Given the description of an element on the screen output the (x, y) to click on. 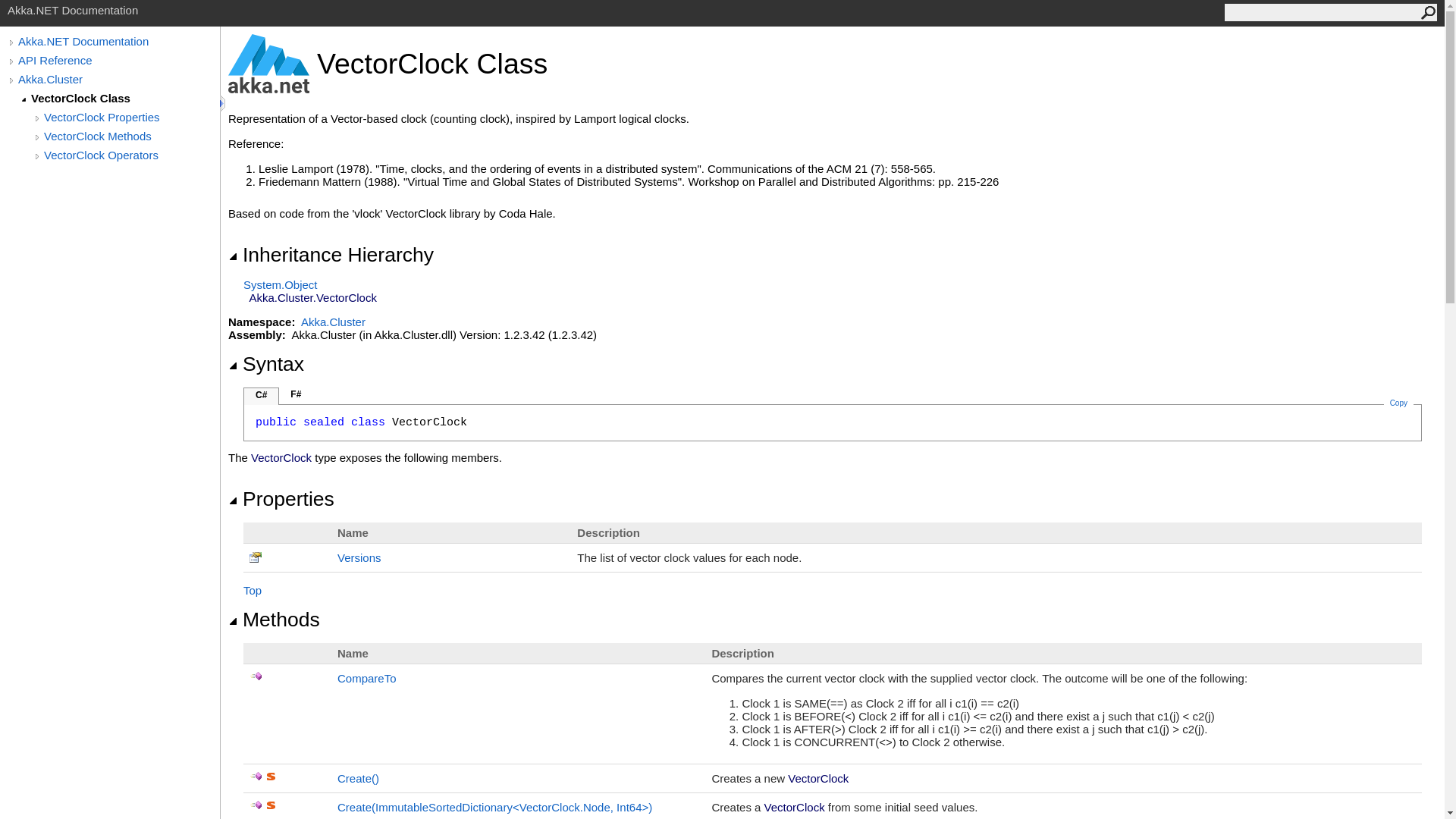
Akka.Cluster (118, 78)
CompareTo (366, 677)
VectorClock Methods (131, 135)
VectorClock Properties (131, 116)
Public method (256, 675)
API Reference (118, 60)
Versions (359, 557)
Static member (271, 776)
Public method (256, 776)
VectorClock Class (124, 97)
